Given the description of an element on the screen output the (x, y) to click on. 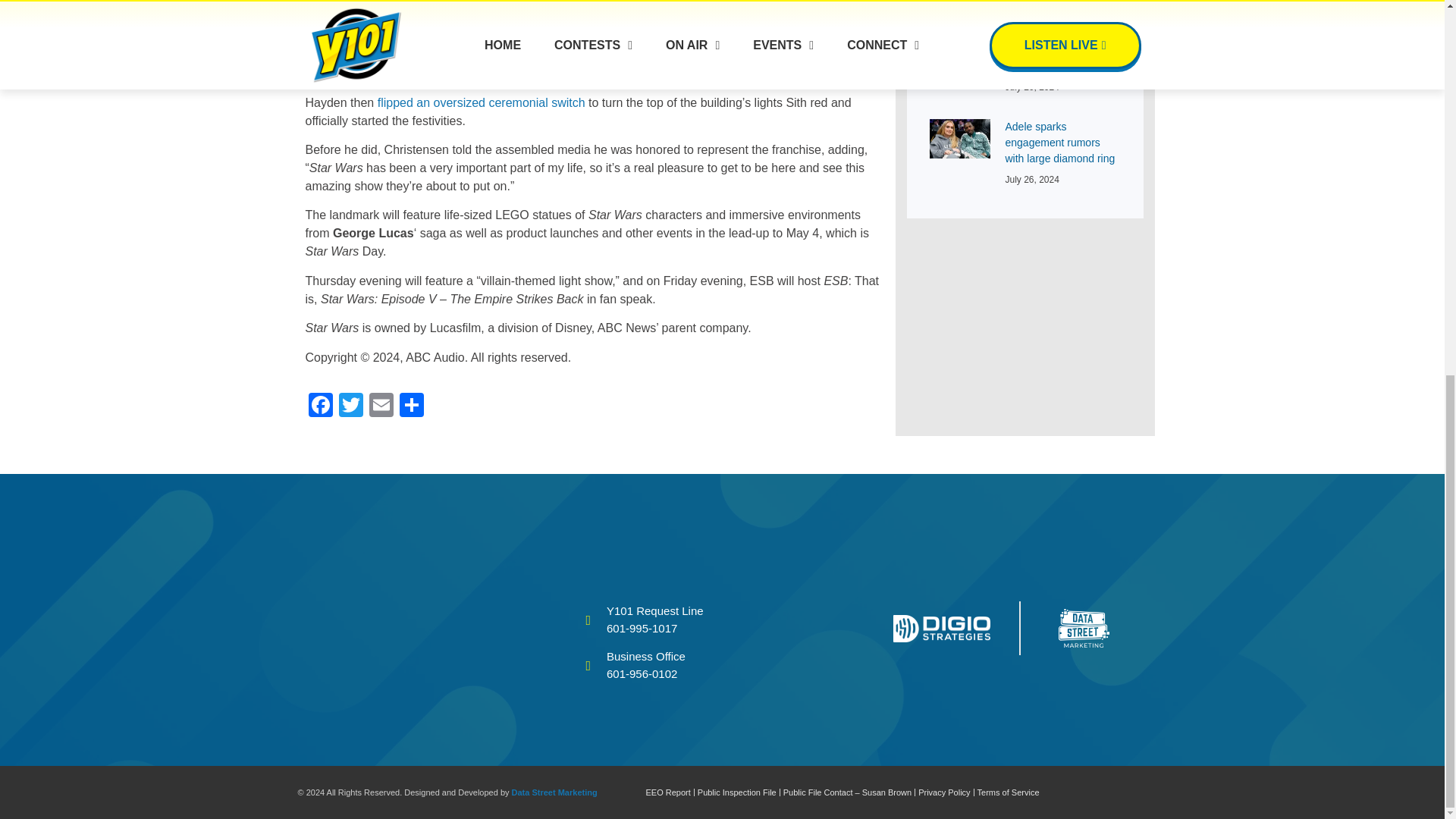
Email (380, 406)
Facebook (319, 406)
Twitter (349, 406)
